Given the description of an element on the screen output the (x, y) to click on. 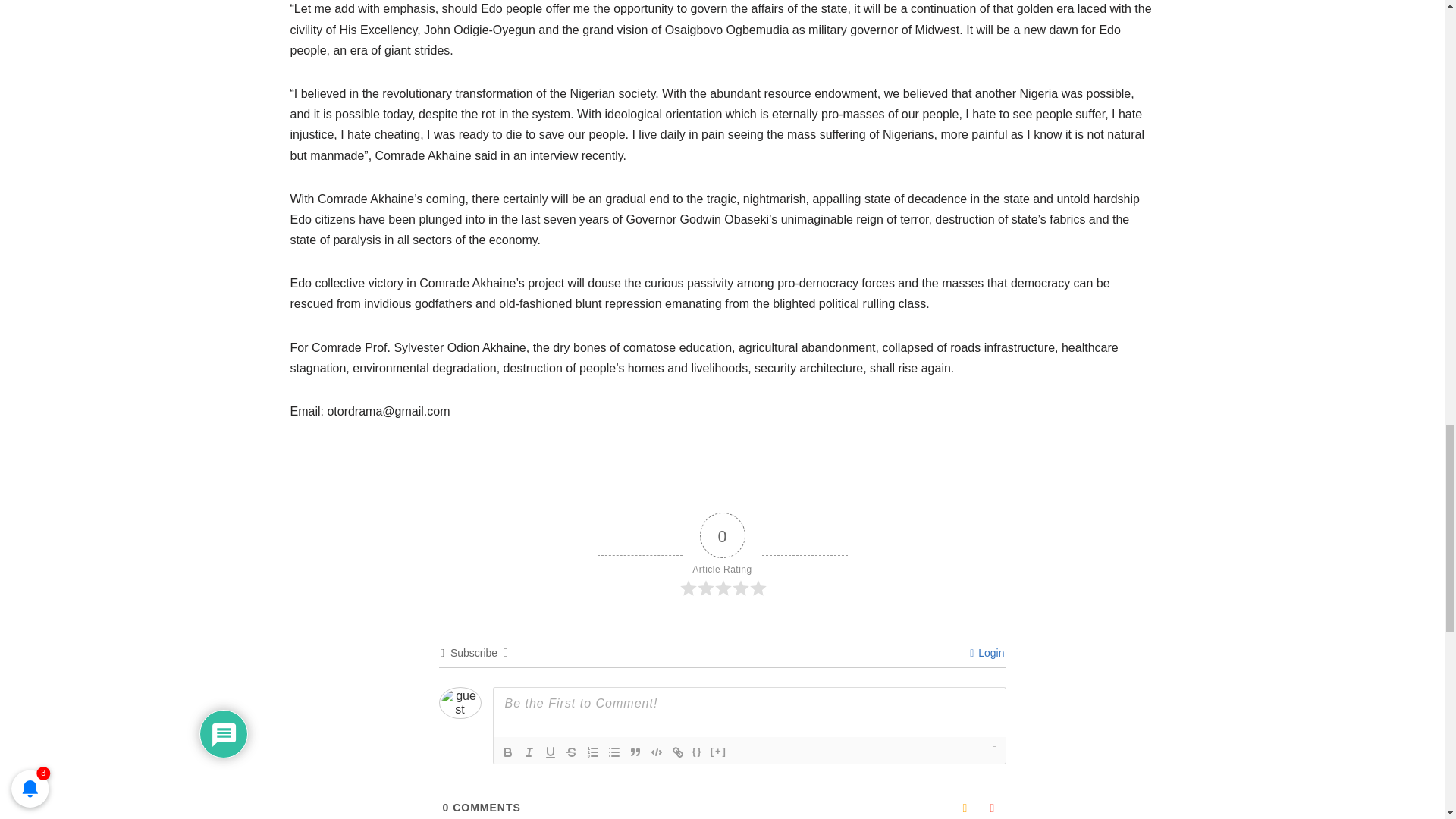
Strike (571, 751)
Italic (529, 751)
Bold (507, 751)
Ordered List (593, 751)
Blockquote (635, 751)
Underline (550, 751)
Code Block (656, 751)
Unordered List (614, 751)
